Given the description of an element on the screen output the (x, y) to click on. 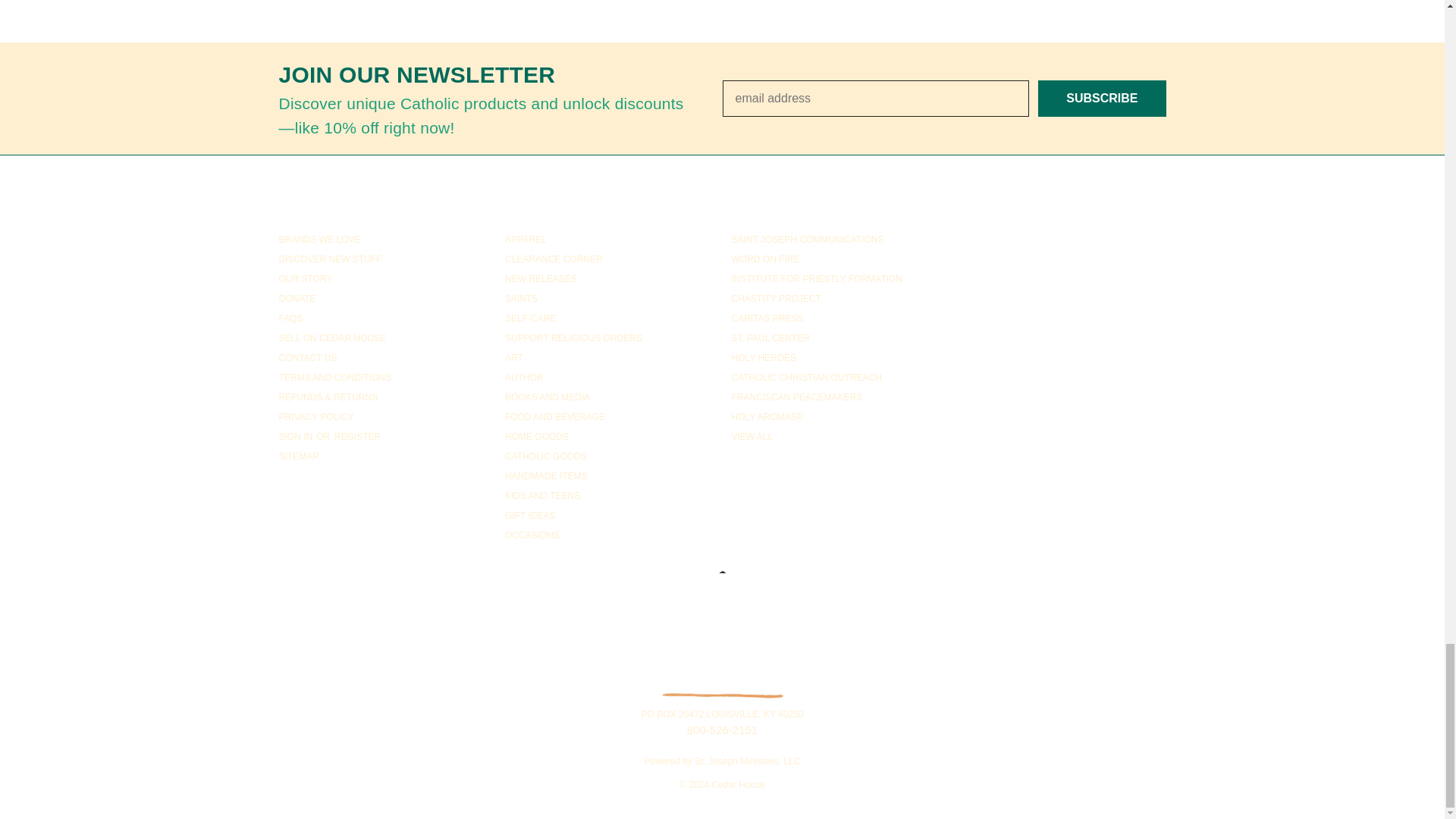
Subscribe (1102, 98)
